Given the description of an element on the screen output the (x, y) to click on. 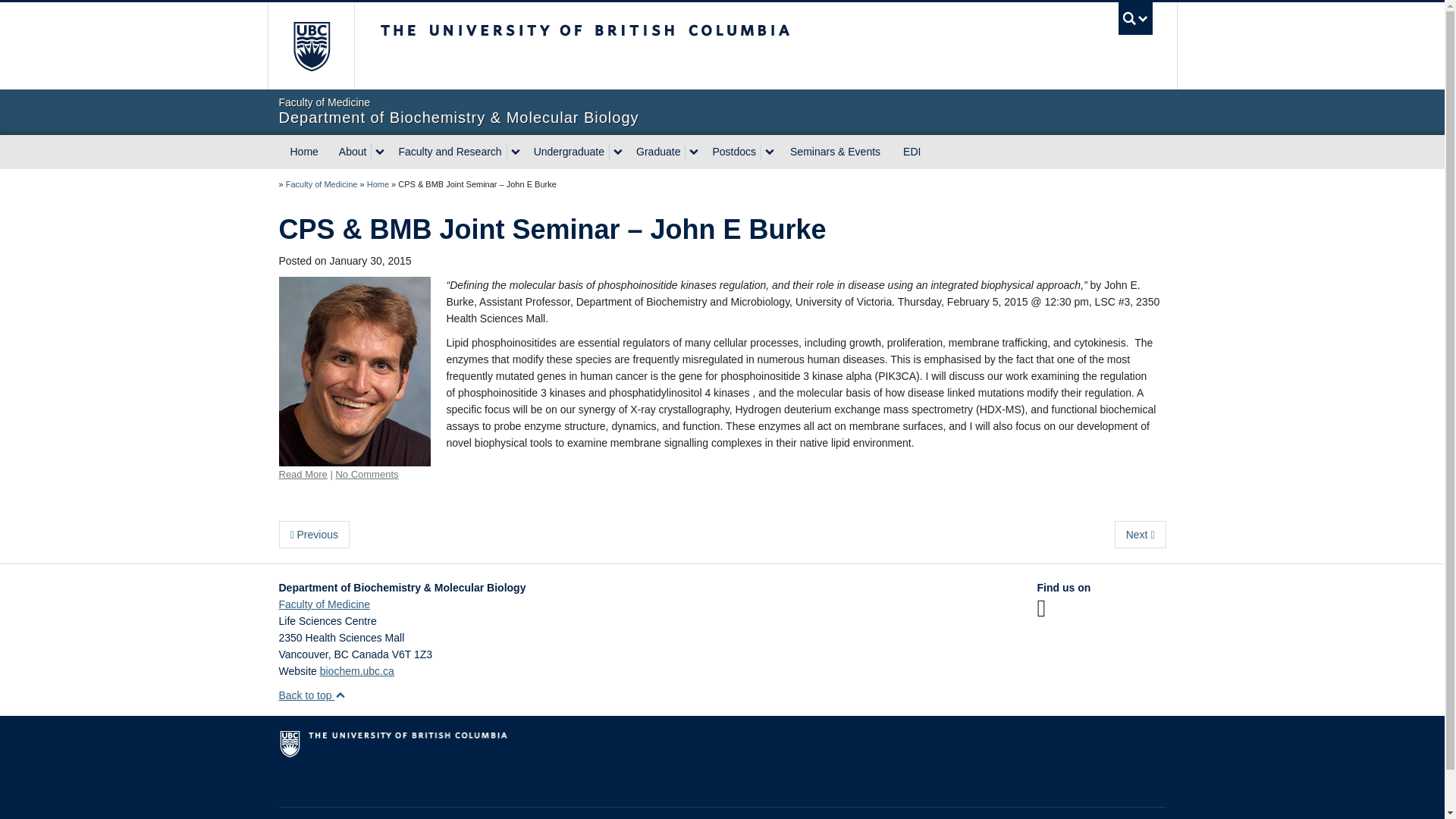
The University of British Columbia (635, 45)
Home (304, 151)
Faculty and Research (447, 151)
UBC Search (1135, 18)
The University of British Columbia (309, 45)
Back to top (312, 695)
Graduate (656, 151)
About (351, 151)
Department of Biochemistry (377, 184)
No Comments (365, 473)
